Given the description of an element on the screen output the (x, y) to click on. 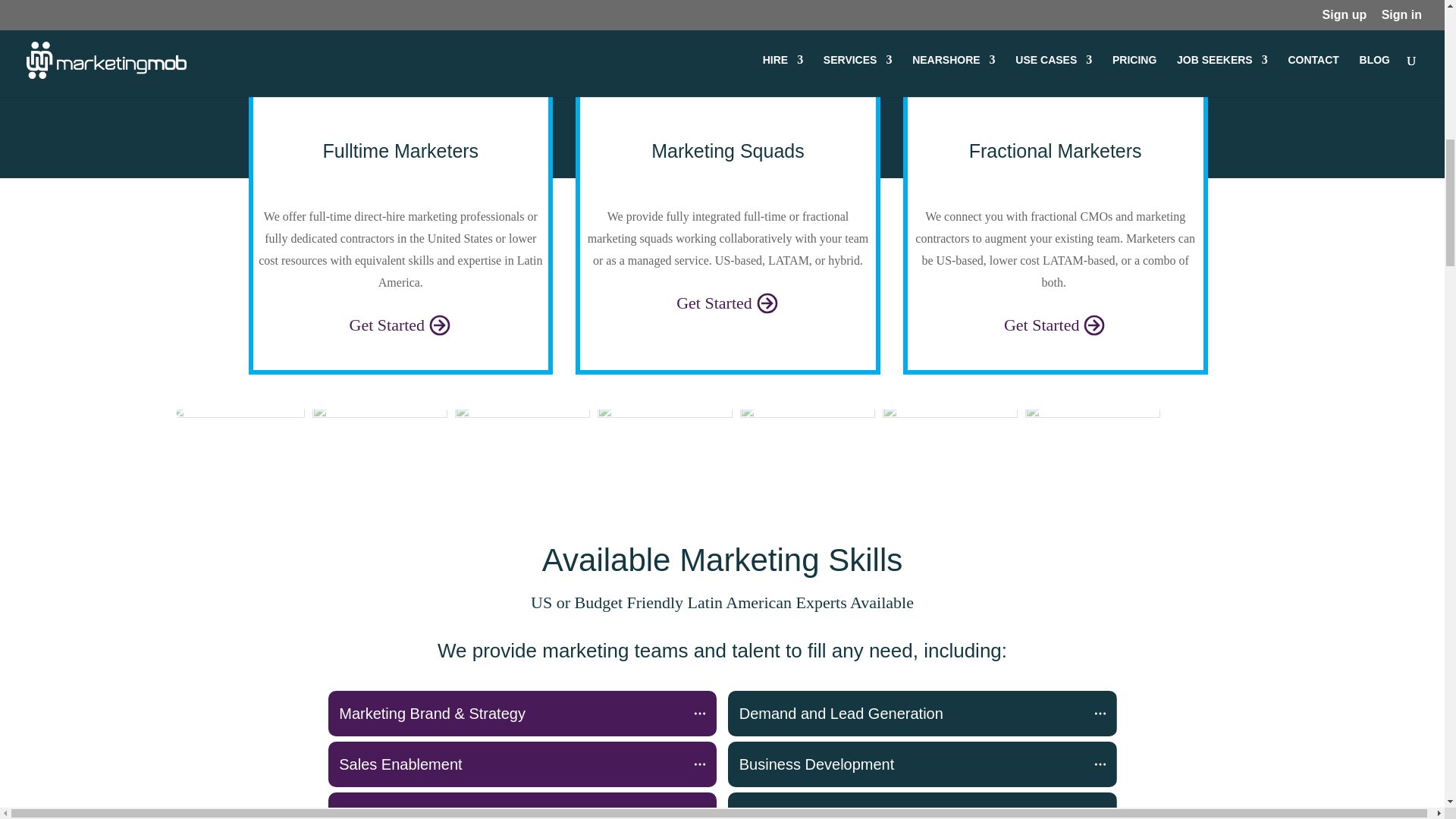
greenway Health (949, 443)
HD Supply (1092, 443)
Marketing Squads Icon (727, 96)
Get Started (401, 323)
Get Started (727, 301)
Get Started (401, 323)
Get Started (727, 301)
Get Started (1055, 323)
Piedmont Healthcare (521, 443)
Get Started (1055, 323)
